Given the description of an element on the screen output the (x, y) to click on. 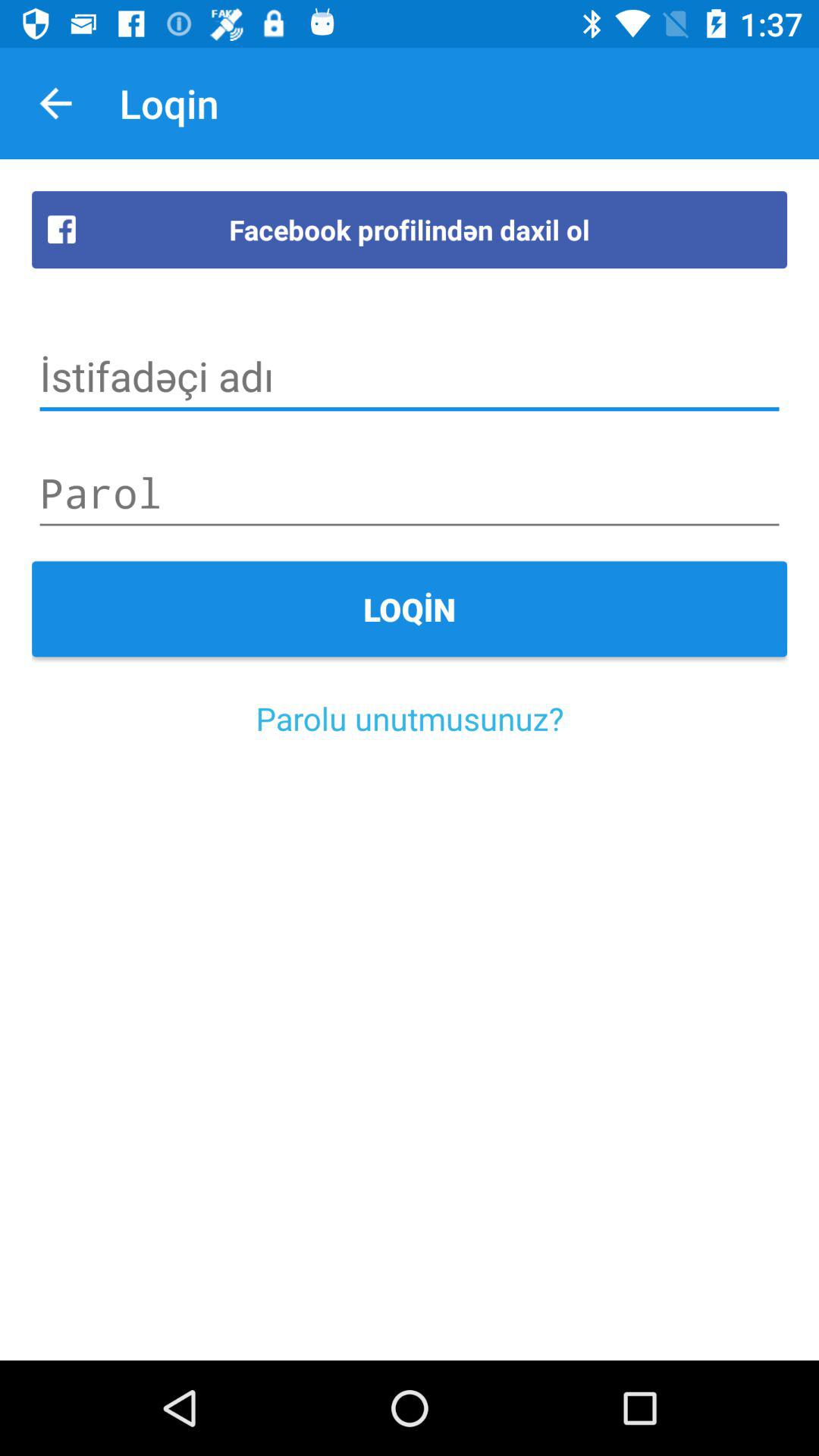
select the item below the loqin item (409, 717)
